Given the description of an element on the screen output the (x, y) to click on. 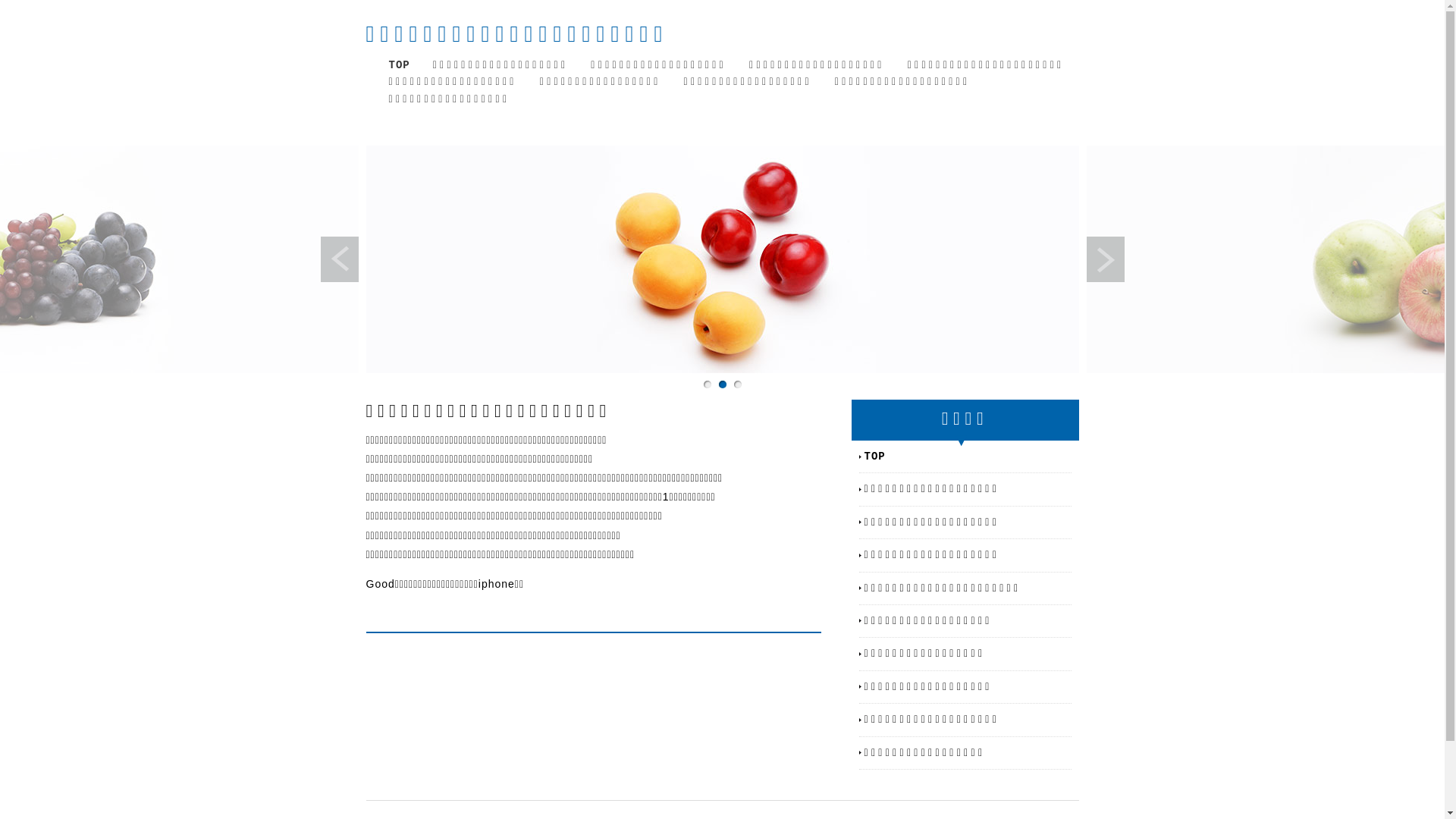
TOP Element type: text (398, 64)
TOP Element type: text (967, 456)
